Given the description of an element on the screen output the (x, y) to click on. 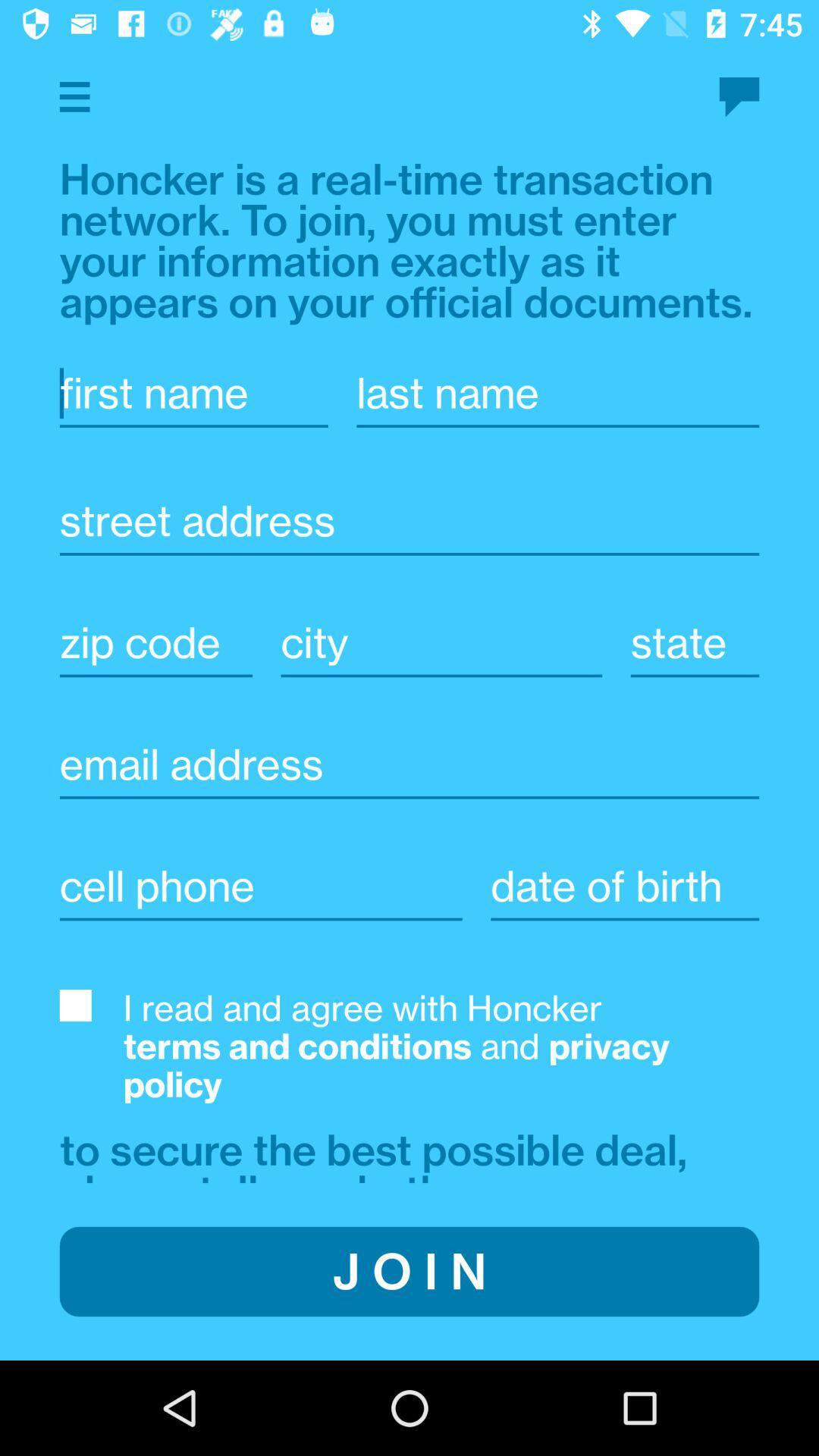
contact us (739, 97)
